Given the description of an element on the screen output the (x, y) to click on. 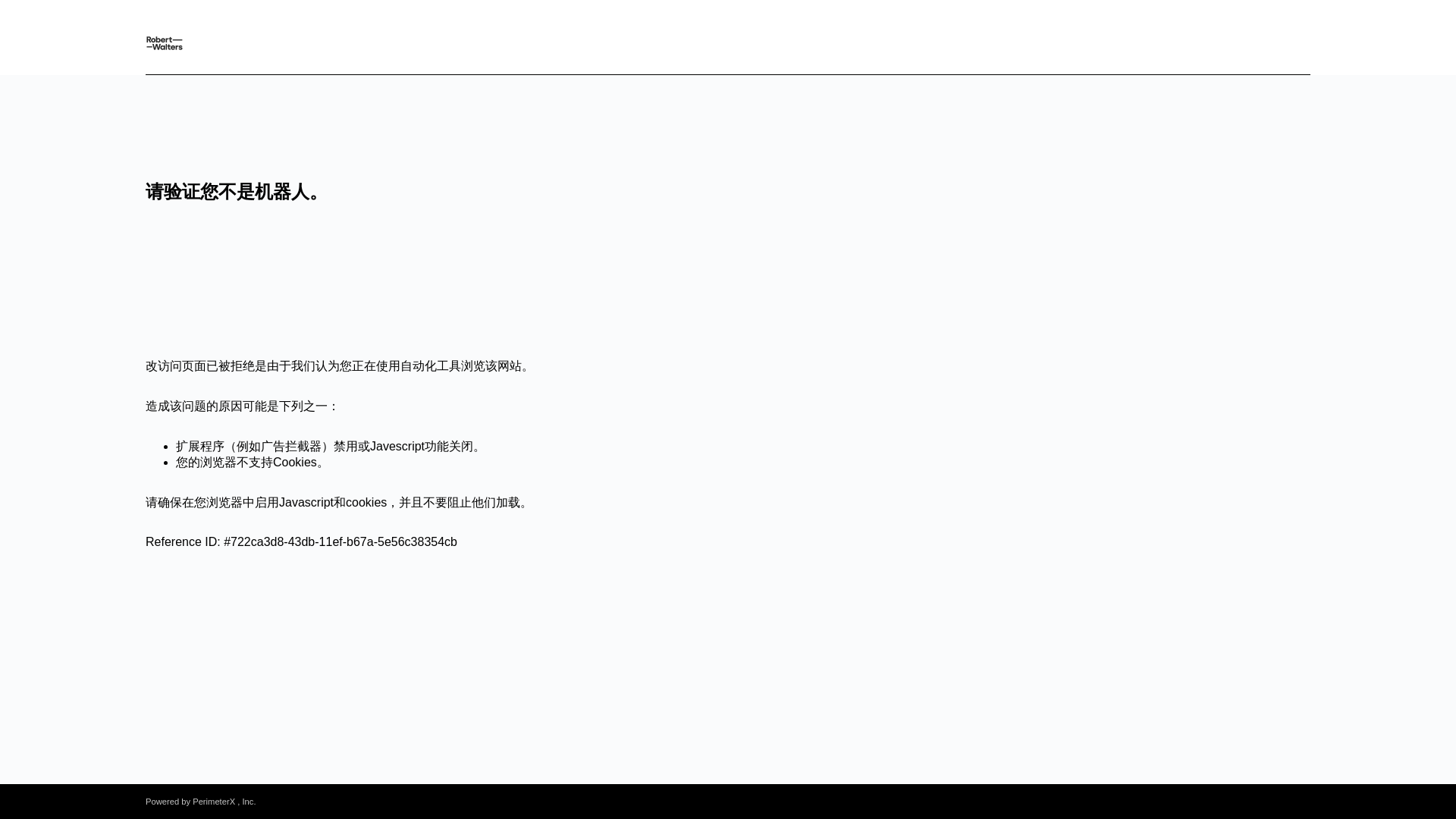
PerimeterX (213, 800)
